Given the description of an element on the screen output the (x, y) to click on. 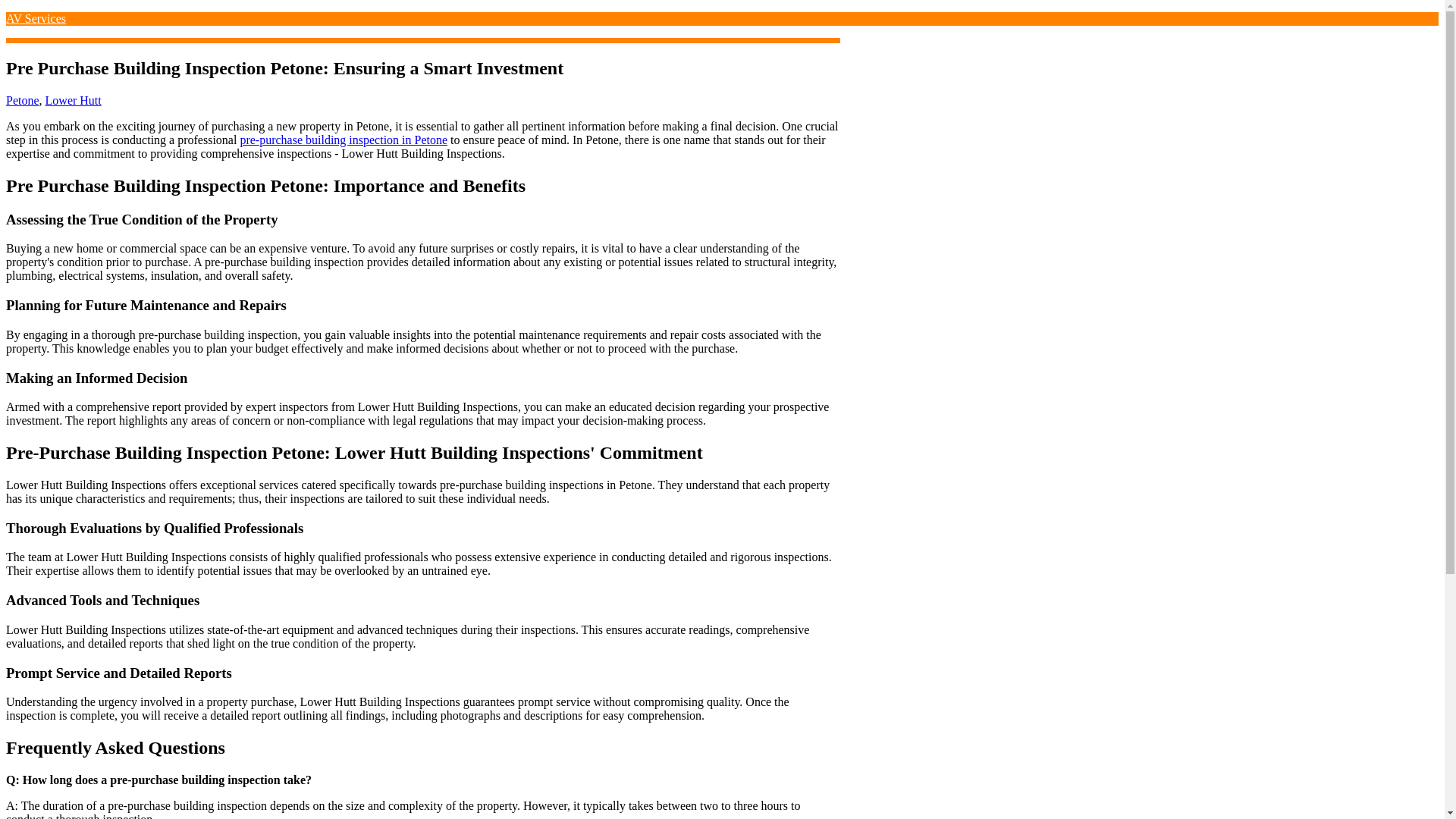
pre-purchase building inspection in Petone (343, 139)
Lower Hutt (73, 100)
Petone (22, 100)
AV Services (35, 18)
